Given the description of an element on the screen output the (x, y) to click on. 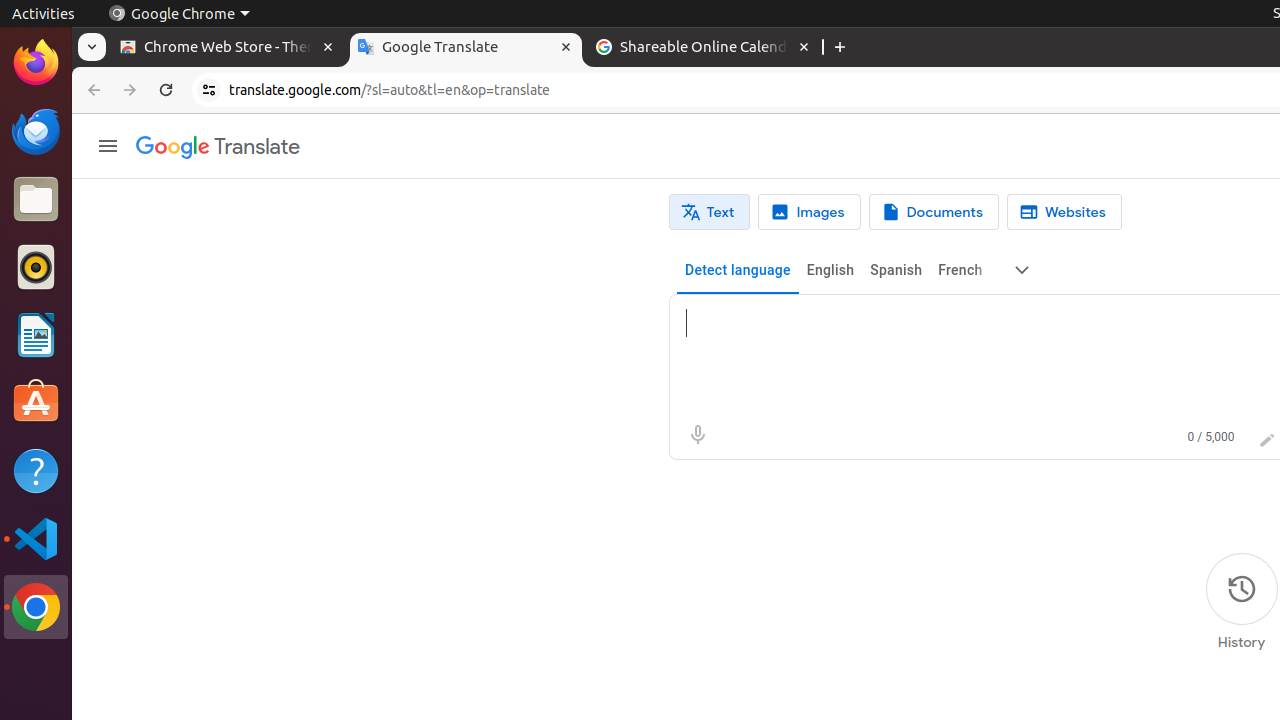
Main menu Element type: push-button (108, 146)
Translate by voice Element type: push-button (697, 434)
Help Element type: push-button (36, 470)
Ubuntu Software Element type: push-button (36, 402)
View site information Element type: push-button (209, 90)
